Given the description of an element on the screen output the (x, y) to click on. 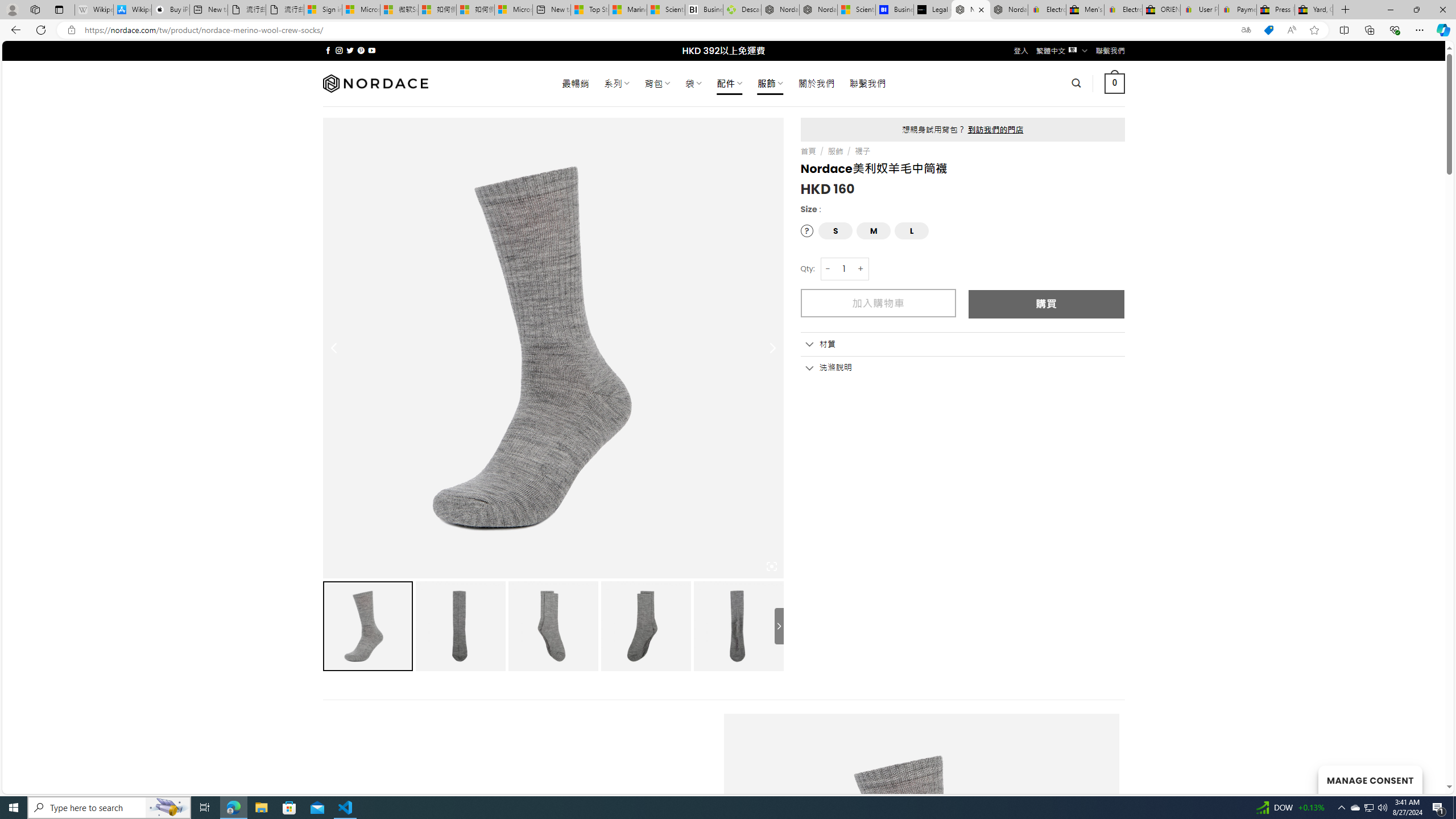
+ (861, 268)
This site has coupons! Shopping in Microsoft Edge (1268, 29)
Follow on Instagram (338, 50)
